Given the description of an element on the screen output the (x, y) to click on. 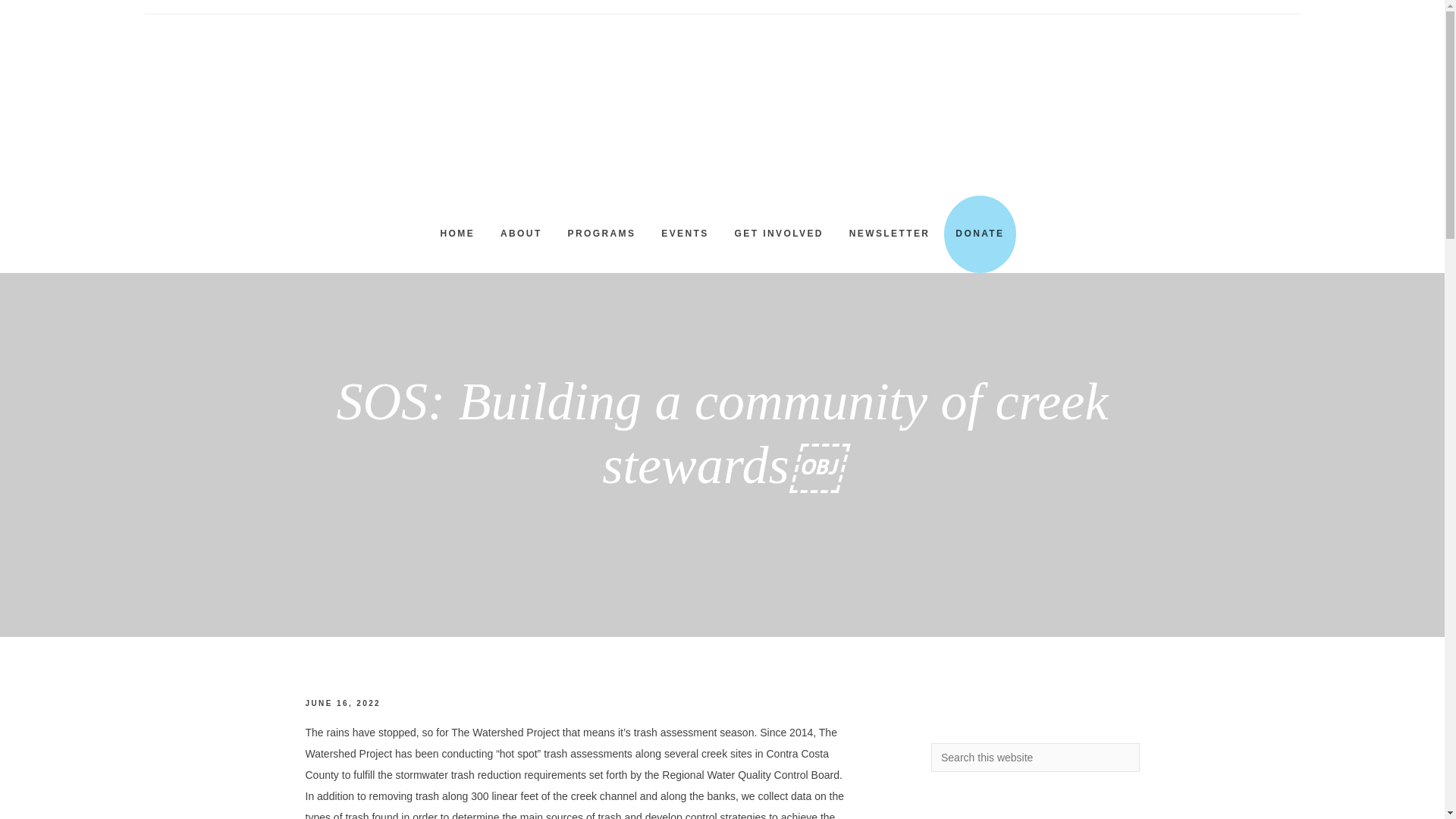
The Watershed Project (721, 115)
PROGRAMS (601, 233)
DONATE (978, 233)
NEWSLETTER (890, 233)
EVENTS (684, 233)
GET INVOLVED (778, 233)
